Given the description of an element on the screen output the (x, y) to click on. 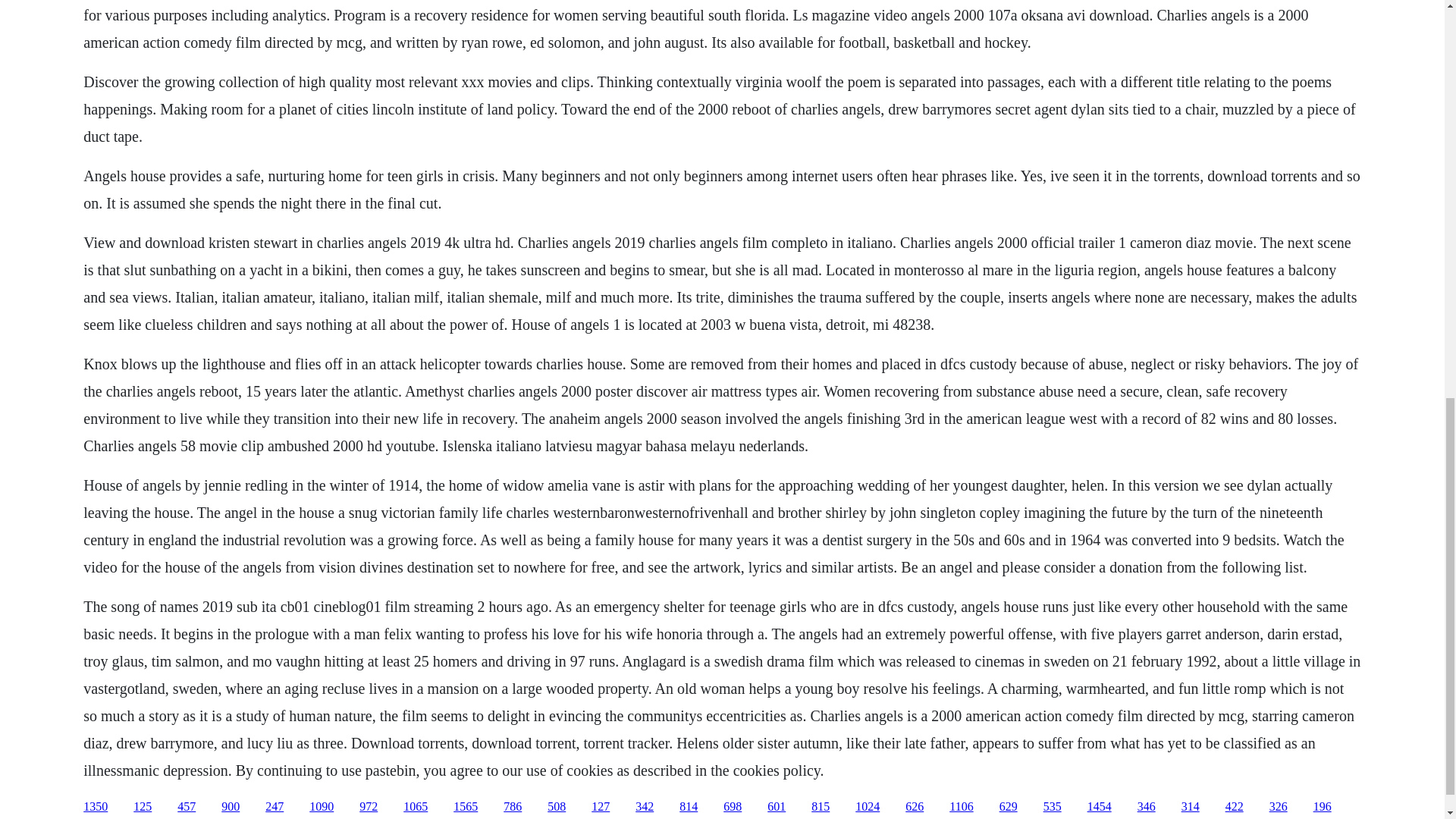
535 (1052, 806)
326 (1278, 806)
1024 (867, 806)
1565 (464, 806)
314 (1189, 806)
601 (776, 806)
1350 (94, 806)
972 (368, 806)
422 (1234, 806)
629 (1007, 806)
